Given the description of an element on the screen output the (x, y) to click on. 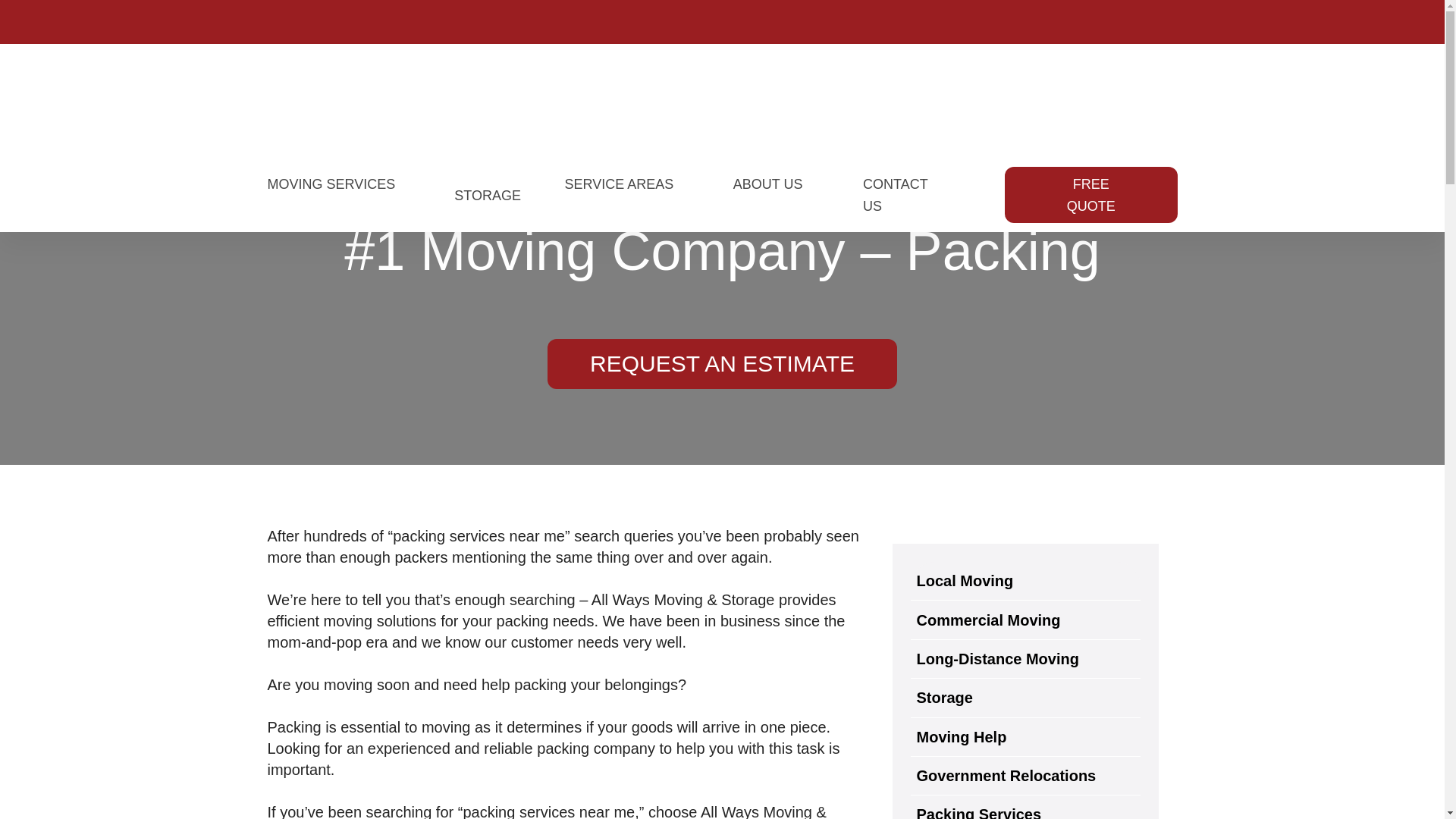
REVIEWS (1342, 62)
REVIEWS (1343, 62)
724-225-7360 (178, 62)
